Given the description of an element on the screen output the (x, y) to click on. 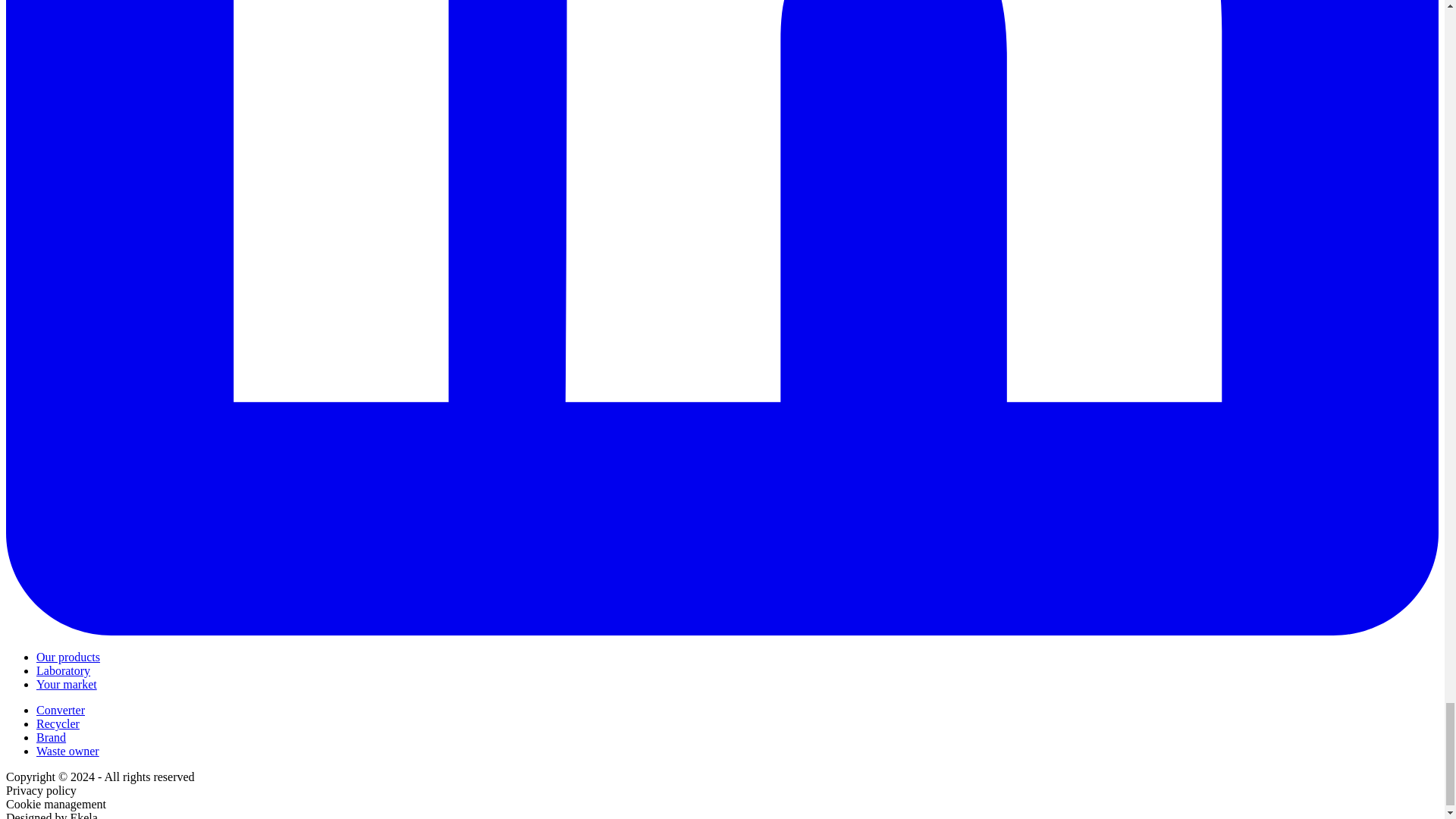
Our products (68, 656)
Converter (60, 709)
Your market (66, 684)
Brand (50, 737)
Laboratory (63, 670)
Recycler (58, 723)
Waste owner (67, 750)
